Given the description of an element on the screen output the (x, y) to click on. 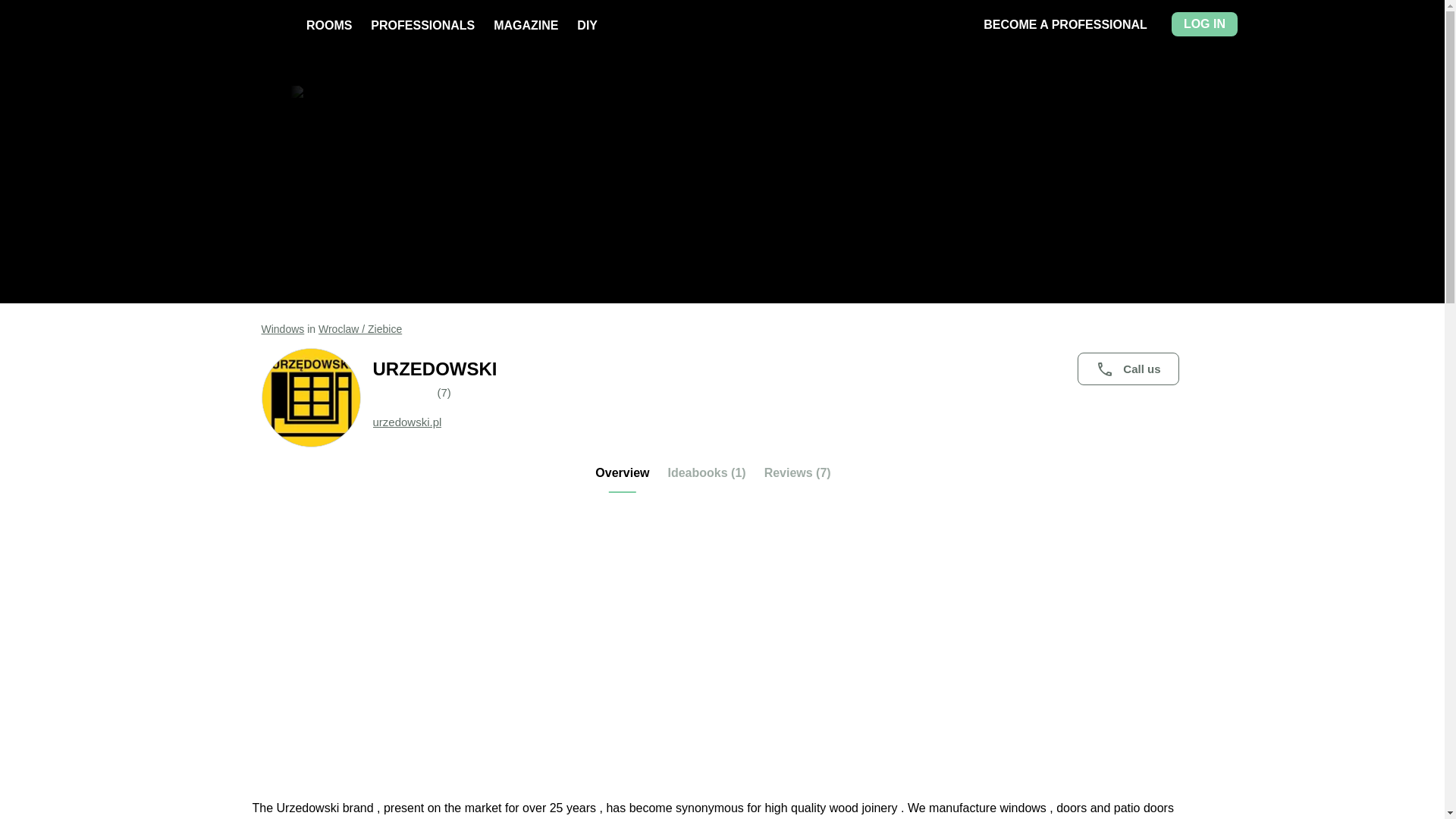
DIY (586, 25)
PROFESSIONALS (422, 25)
LOG IN (1204, 24)
URZEDOWSKI (777, 368)
Windows (282, 328)
BECOME A PROFESSIONAL (1064, 23)
Call us (1127, 368)
MAGAZINE (525, 25)
Overview (622, 478)
